Given the description of an element on the screen output the (x, y) to click on. 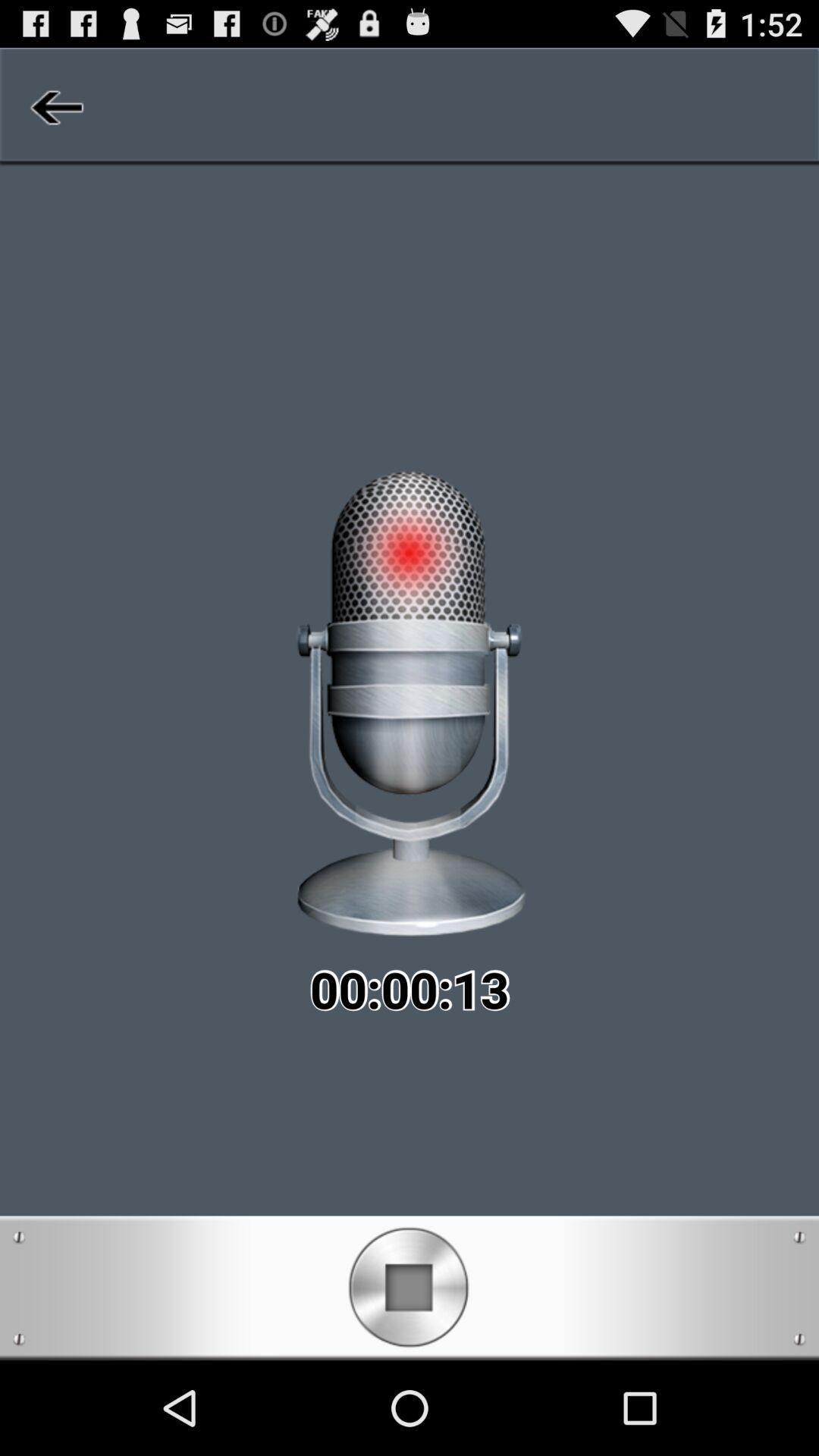
stop recording (408, 1287)
